Given the description of an element on the screen output the (x, y) to click on. 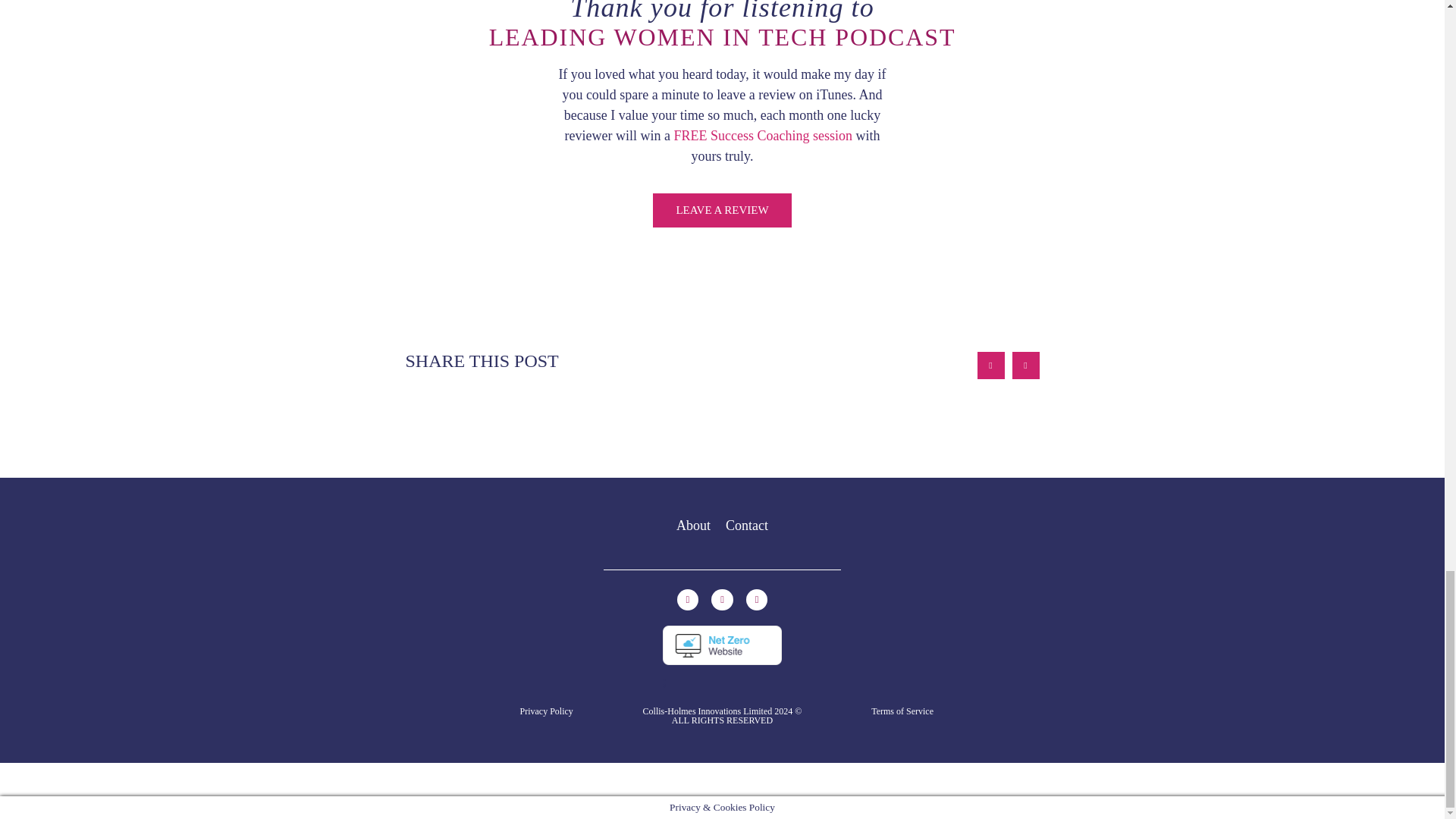
Terms of Service (901, 710)
About (692, 524)
Privacy Policy (546, 710)
LEAVE A REVIEW (721, 210)
Contact (746, 524)
